Given the description of an element on the screen output the (x, y) to click on. 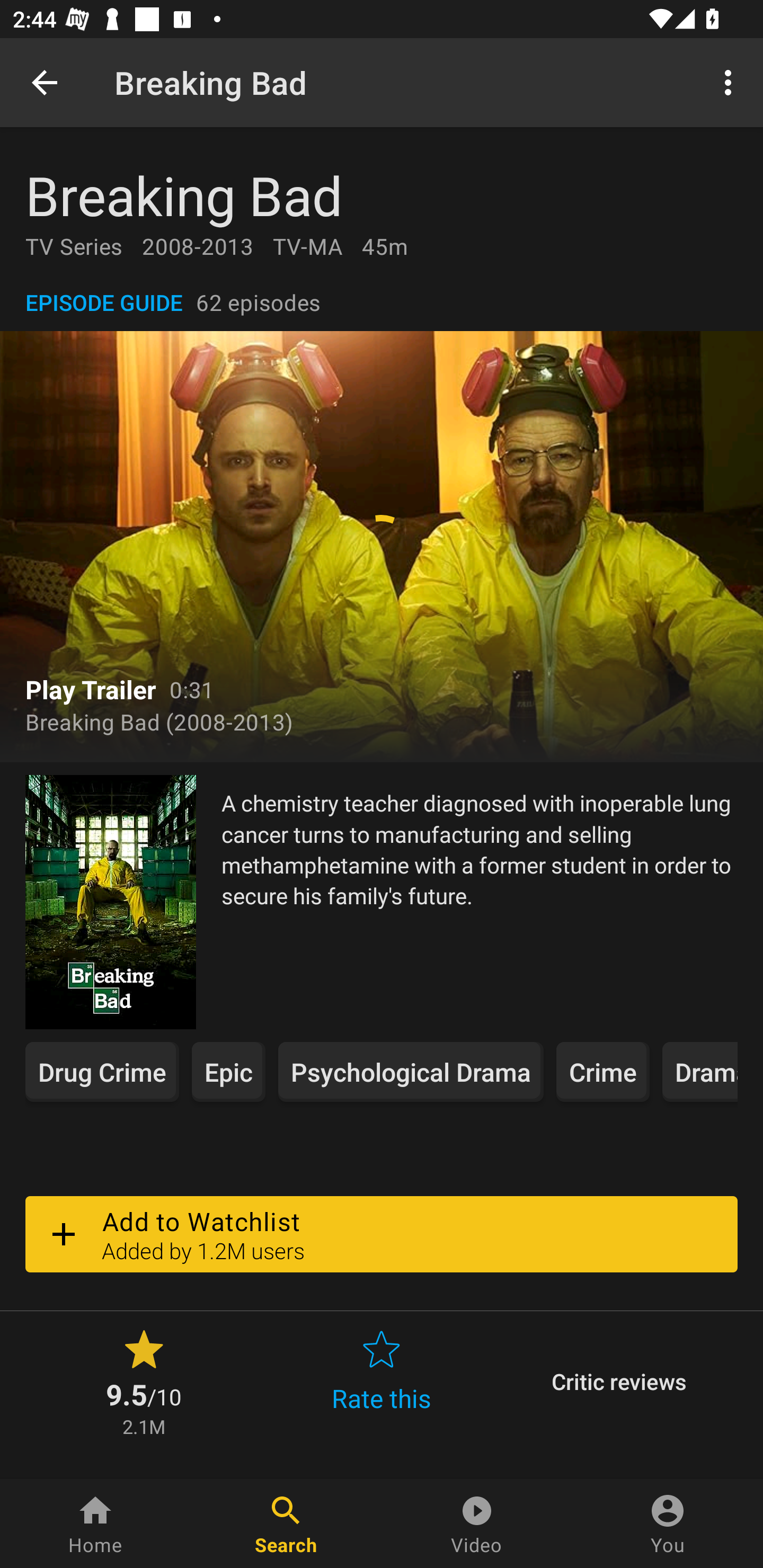
More options (731, 81)
EPISODE GUIDE 62 episodes (381, 302)
Drug Crime (102, 1072)
Epic (228, 1072)
Psychological Drama (410, 1072)
Crime (602, 1072)
Drama (699, 1072)
Add to Watchlist Added by 1.2M users (381, 1234)
9.5 /10 2.1M (143, 1381)
Rate this (381, 1381)
Critic reviews (618, 1381)
Home (95, 1523)
Video (476, 1523)
You (667, 1523)
